Given the description of an element on the screen output the (x, y) to click on. 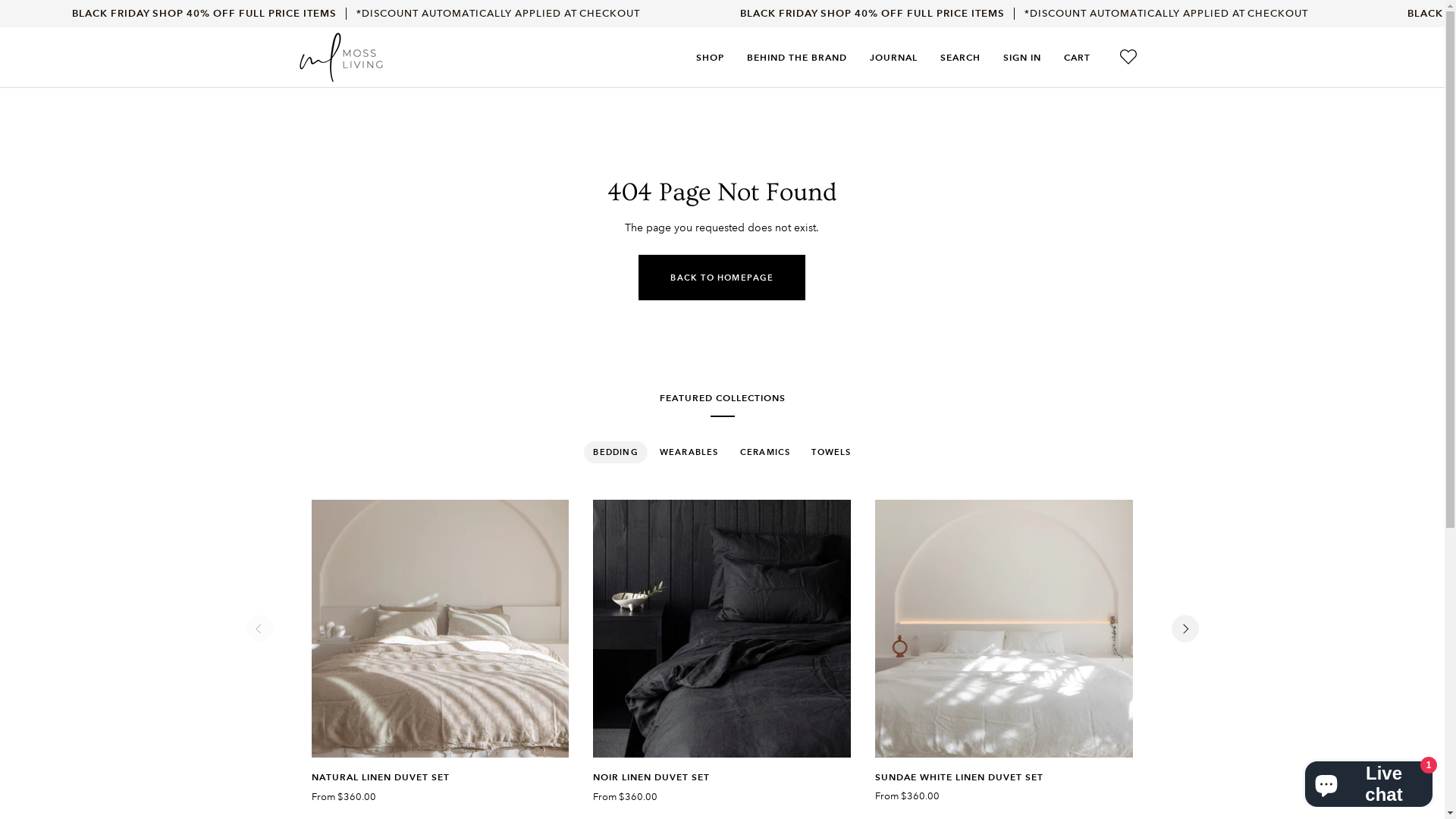
SIGN IN Element type: text (1021, 57)
SHOP Element type: text (709, 57)
BEDDING Element type: text (614, 452)
SUNDAE WHITE LINEN DUVET SET
From $360.00 Element type: text (1003, 783)
SEARCH Element type: text (959, 57)
TOWELS Element type: text (830, 452)
CART Element type: text (1076, 57)
BEHIND THE BRAND Element type: text (796, 57)
JOURNAL Element type: text (893, 57)
BACK TO HOMEPAGE Element type: text (721, 277)
CERAMICS Element type: text (765, 452)
Shopify online store chat Element type: hover (1368, 780)
NOIR LINEN DUVET SET
From $360.00 Element type: text (721, 783)
NATURAL LINEN DUVET SET
From $360.00 Element type: text (439, 783)
WEARABLES Element type: text (689, 452)
View Wishlist Element type: hover (1127, 57)
